Given the description of an element on the screen output the (x, y) to click on. 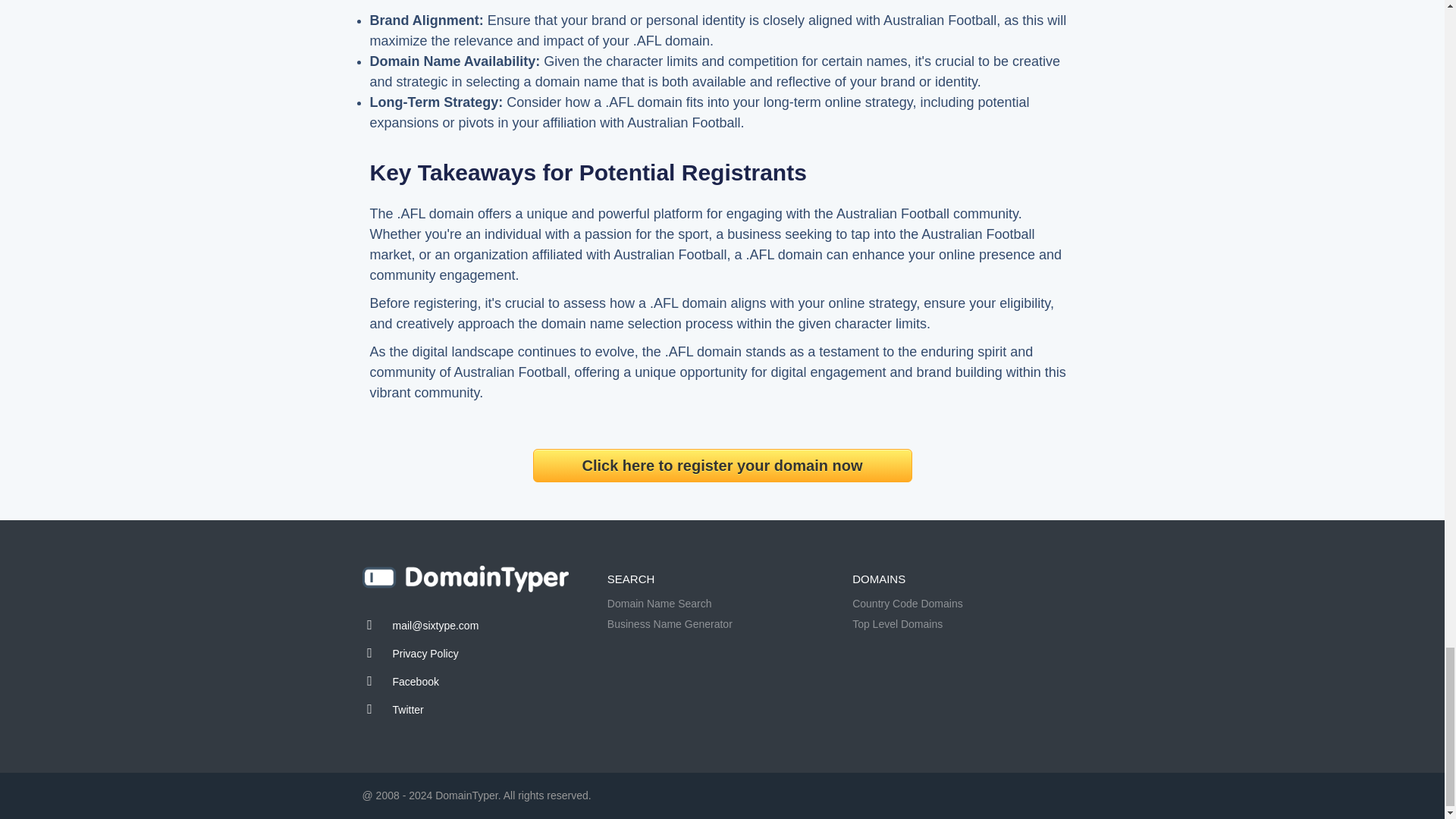
Facebook (416, 681)
Domain Name Search (659, 603)
Business Name Generator (669, 623)
Click here to register your domain now (721, 465)
Country Code Domains (906, 603)
Top Level Domains (896, 623)
Twitter (408, 709)
Privacy Policy (425, 653)
